Given the description of an element on the screen output the (x, y) to click on. 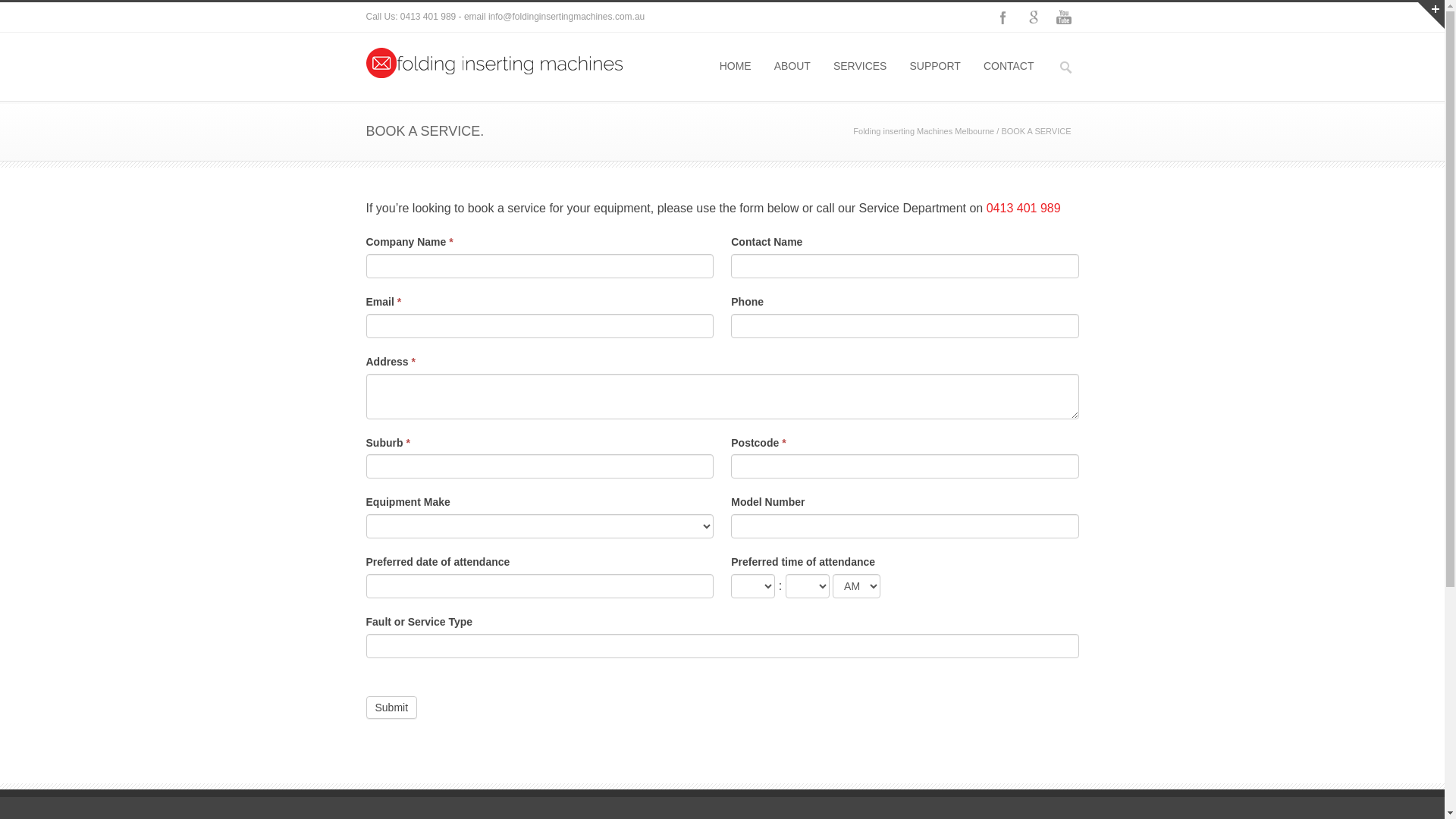
Google+ Element type: text (1032, 17)
0413 401 989 Element type: text (427, 16)
ABOUT Element type: text (792, 65)
Search Element type: text (12, 10)
SUPPORT Element type: text (934, 65)
info@foldinginsertingmachines.com.au Element type: text (566, 16)
CONTACT Element type: text (1008, 65)
Facebook Element type: text (1002, 17)
Submit Element type: text (391, 707)
YouTube Element type: text (1063, 17)
HOME Element type: text (735, 65)
0413 401 989 Element type: text (1023, 207)
Folding inserting Machines Melbourne Element type: text (923, 130)
SERVICES Element type: text (860, 65)
